Given the description of an element on the screen output the (x, y) to click on. 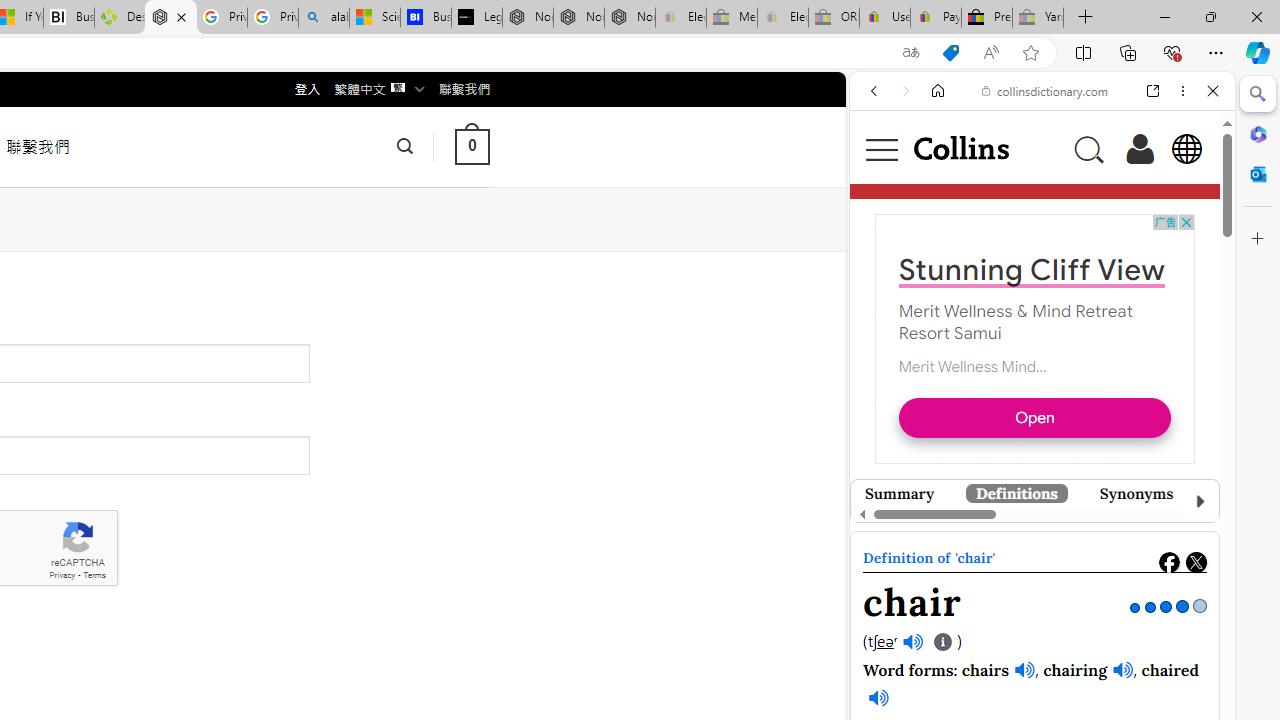
Oxford Languages (1146, 281)
Merit Wellness & Mind Retreat Resort Samui (1016, 322)
Share this page on Twitter (1196, 562)
Yard, Garden & Outdoor Living - Sleeping (1037, 17)
